Given the description of an element on the screen output the (x, y) to click on. 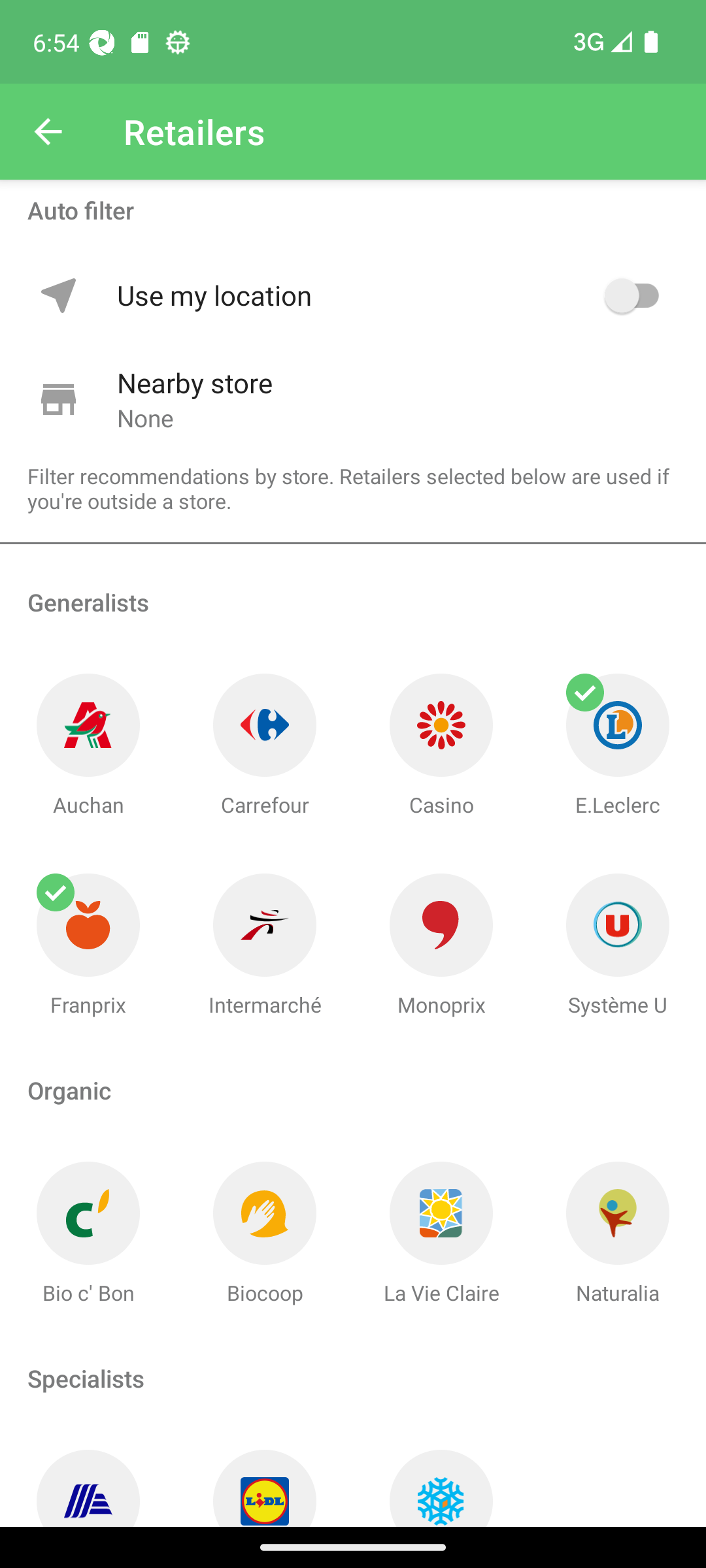
Navigate up (48, 131)
Use my location OFF (390, 295)
Auchan (88, 746)
Carrefour (264, 746)
Casino (441, 746)
E.Leclerc (617, 746)
Franprix (88, 945)
Intermarché (264, 945)
Monoprix (441, 945)
Système U (617, 945)
Bio c' Bon (88, 1233)
Biocoop (264, 1233)
La Vie Claire (441, 1233)
Naturalia (617, 1233)
